Given the description of an element on the screen output the (x, y) to click on. 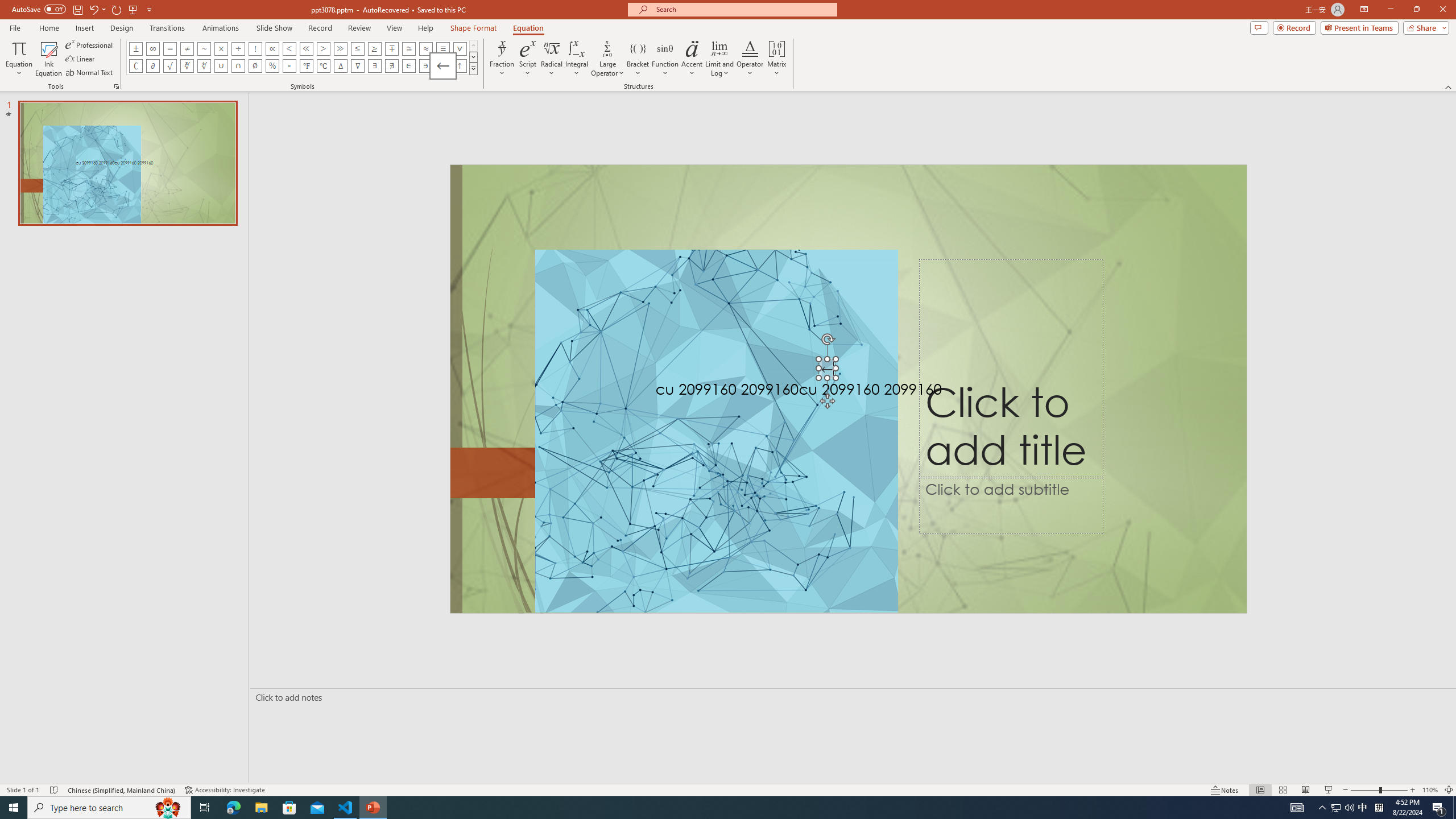
Linear (81, 58)
Equation Symbol Plus Minus (136, 48)
Equation Symbol Fourth Root (203, 65)
Professional (90, 44)
Function (664, 58)
Equation Symbol Empty Set (255, 65)
